Given the description of an element on the screen output the (x, y) to click on. 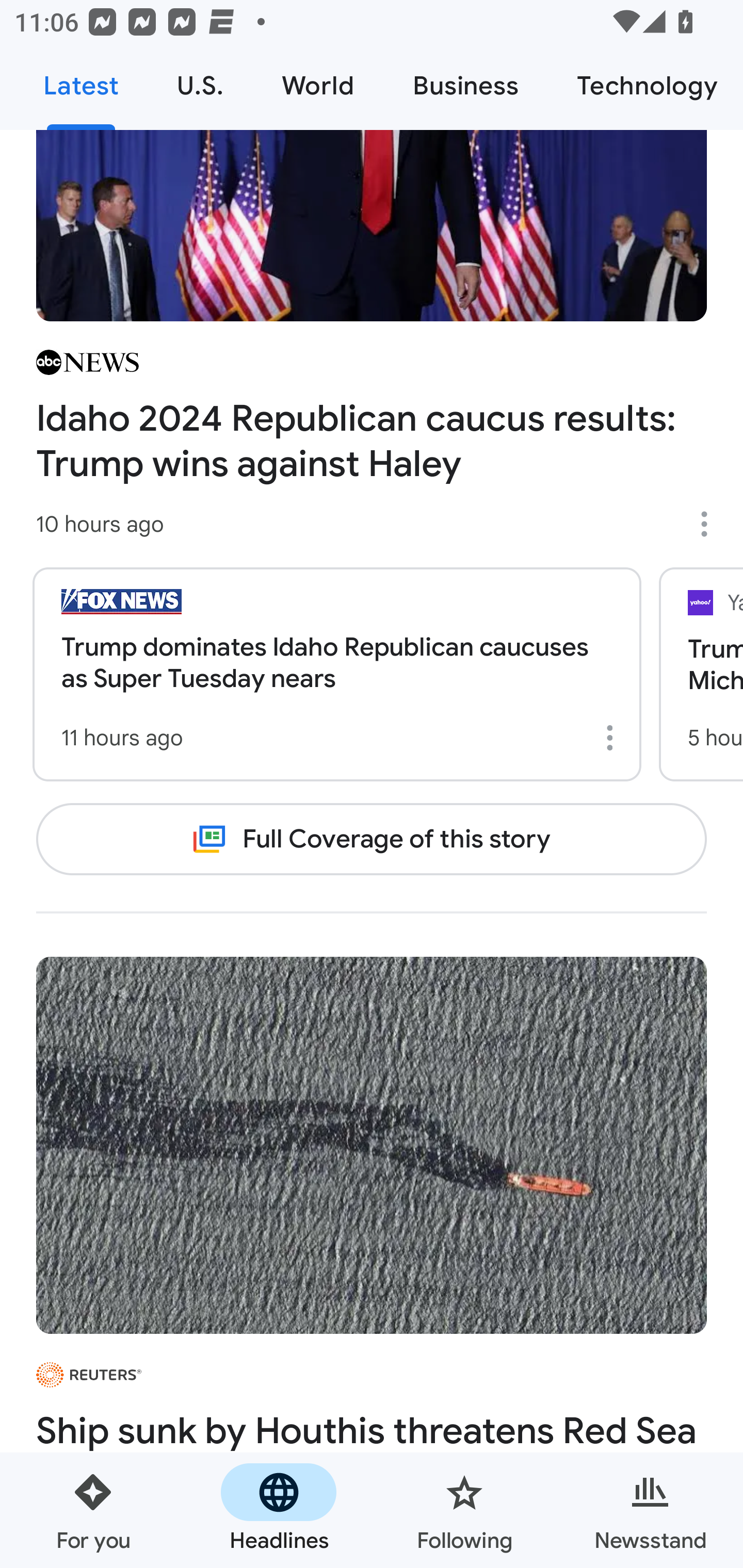
U.S. (199, 86)
World (317, 86)
Business (465, 86)
Technology (645, 86)
More options (711, 523)
More options (613, 737)
Full Coverage of this story (371, 838)
For you (92, 1509)
Headlines (278, 1509)
Following (464, 1509)
Newsstand (650, 1509)
